Given the description of an element on the screen output the (x, y) to click on. 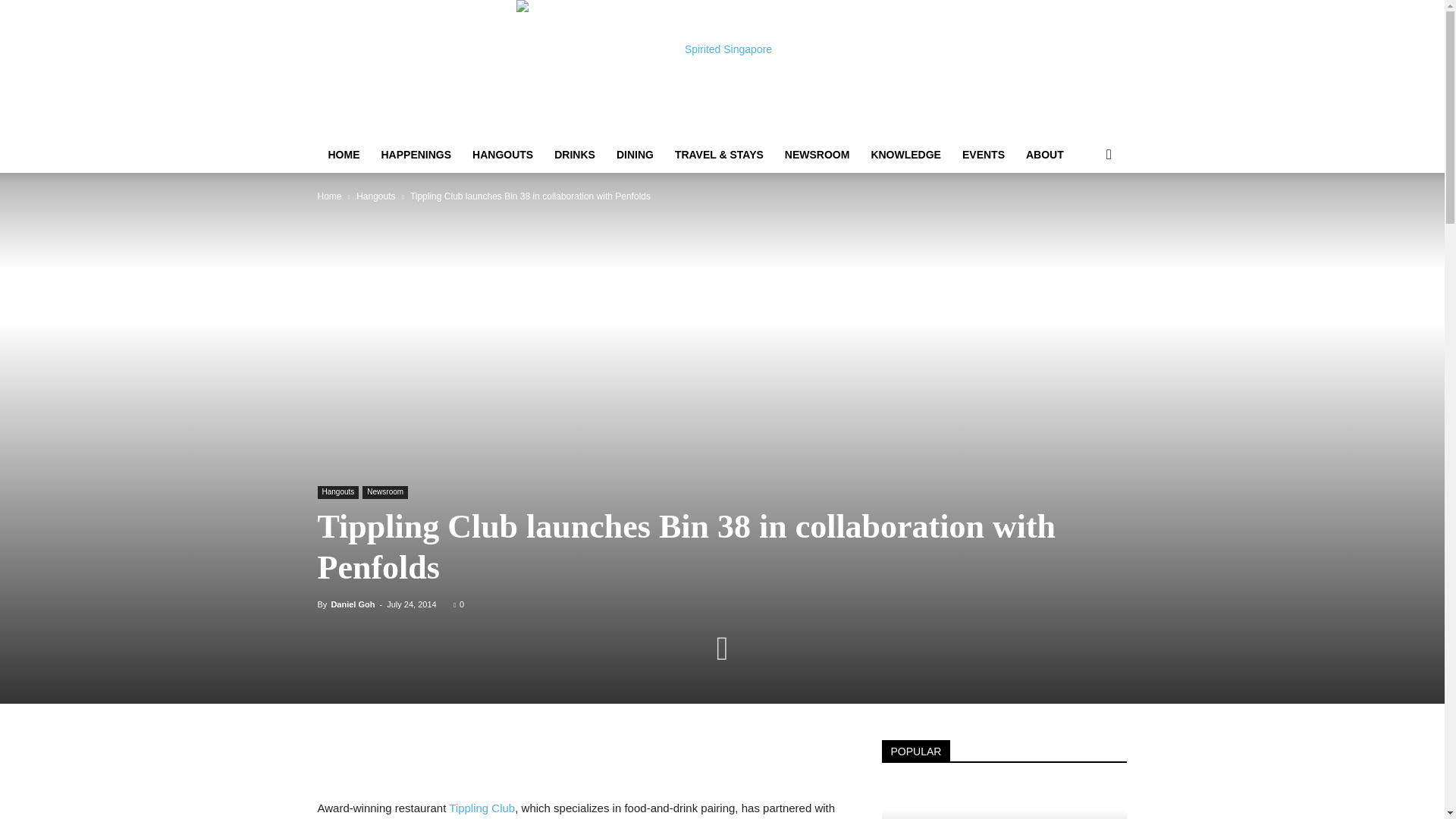
HAPPENINGS (415, 154)
Search (1085, 215)
KNOWLEDGE (906, 154)
Home (328, 195)
HOME (343, 154)
Your guide to a more refined drinking and dining lifestyle. (721, 68)
HANGOUTS (502, 154)
EVENTS (983, 154)
NEWSROOM (817, 154)
DINING (634, 154)
